Given the description of an element on the screen output the (x, y) to click on. 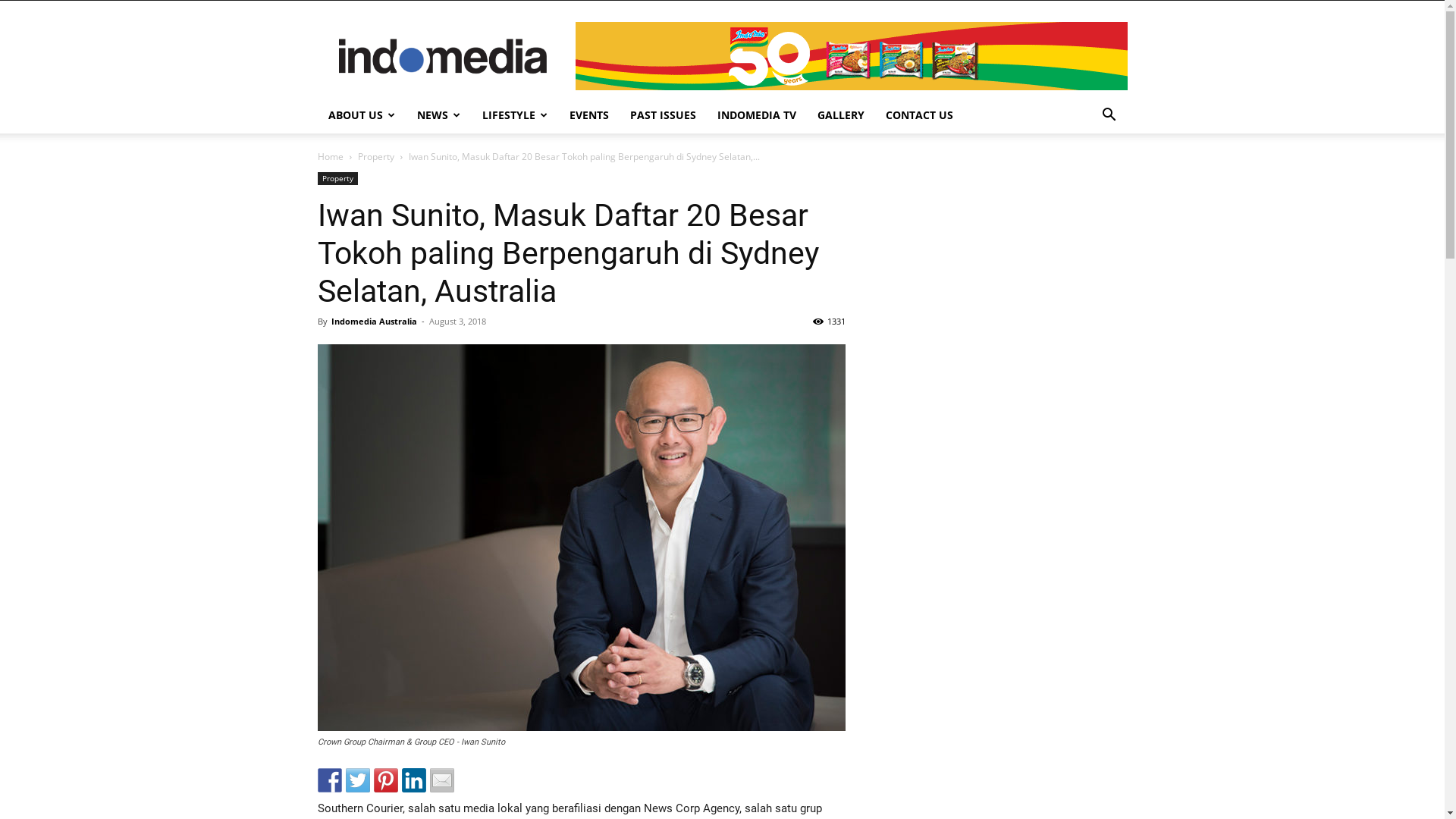
Share by email Element type: hover (441, 780)
PAST ISSUES Element type: text (662, 115)
LIFESTYLE Element type: text (514, 115)
GALLERY Element type: text (840, 115)
property iwan sunito Element type: hover (580, 537)
EVENTS Element type: text (588, 115)
NEWS Element type: text (438, 115)
Share on Twitter Element type: hover (357, 780)
Pin it with Pinterest Element type: hover (385, 780)
Property Element type: text (336, 178)
ABOUT US Element type: text (360, 115)
Indomedia Australia Element type: text (373, 320)
Home Element type: text (329, 156)
Search Element type: text (1085, 175)
Share on Facebook Element type: hover (328, 780)
INDOMEDIA TV Element type: text (756, 115)
Property Element type: text (375, 156)
CONTACT US Element type: text (919, 115)
Share on Linkedin Element type: hover (413, 780)
